Given the description of an element on the screen output the (x, y) to click on. 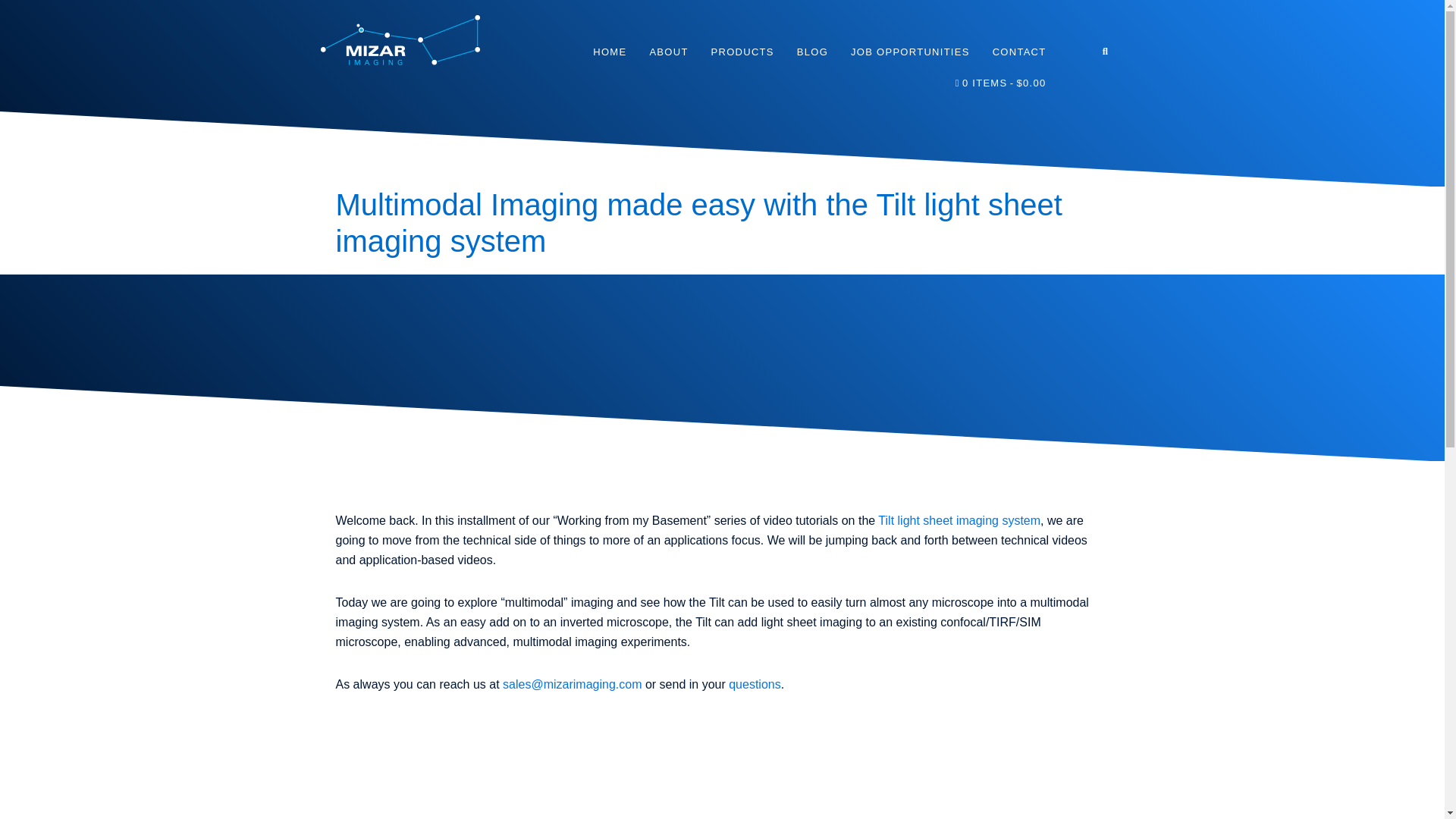
HOME (608, 51)
Tilt light sheet imaging system (959, 520)
ABOUT (667, 51)
PRODUCTS (743, 51)
JOB OPPORTUNITIES (910, 51)
BLOG (813, 51)
Start shopping (1000, 82)
CONTACT (1019, 51)
Multimodal Imaging made easy with the Tilt (600, 768)
